Given the description of an element on the screen output the (x, y) to click on. 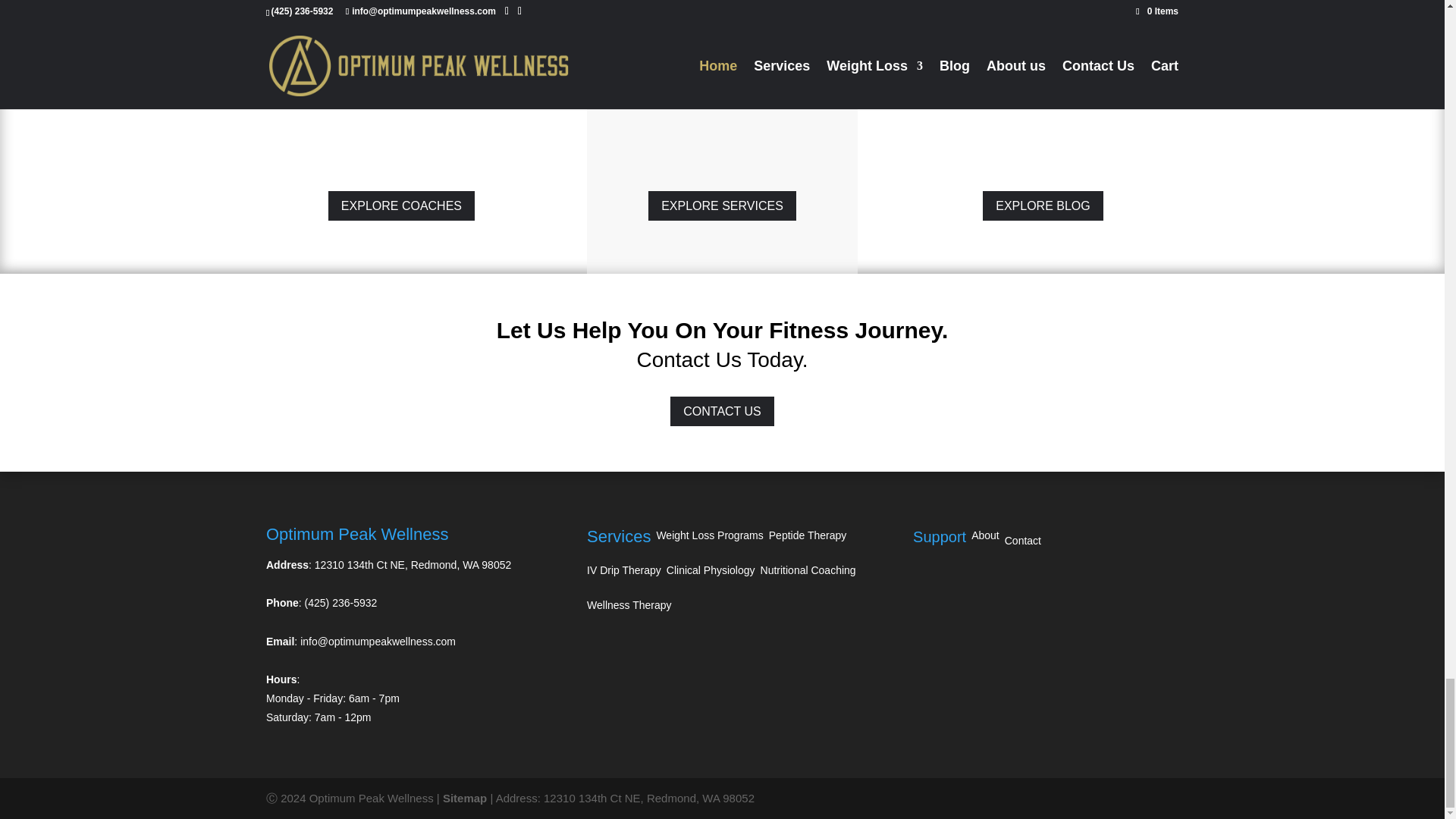
EXPLORE BLOG (1042, 205)
EXPLORE COACHES (401, 205)
CONTACT US (721, 410)
EXPLORE SERVICES (721, 205)
